Given the description of an element on the screen output the (x, y) to click on. 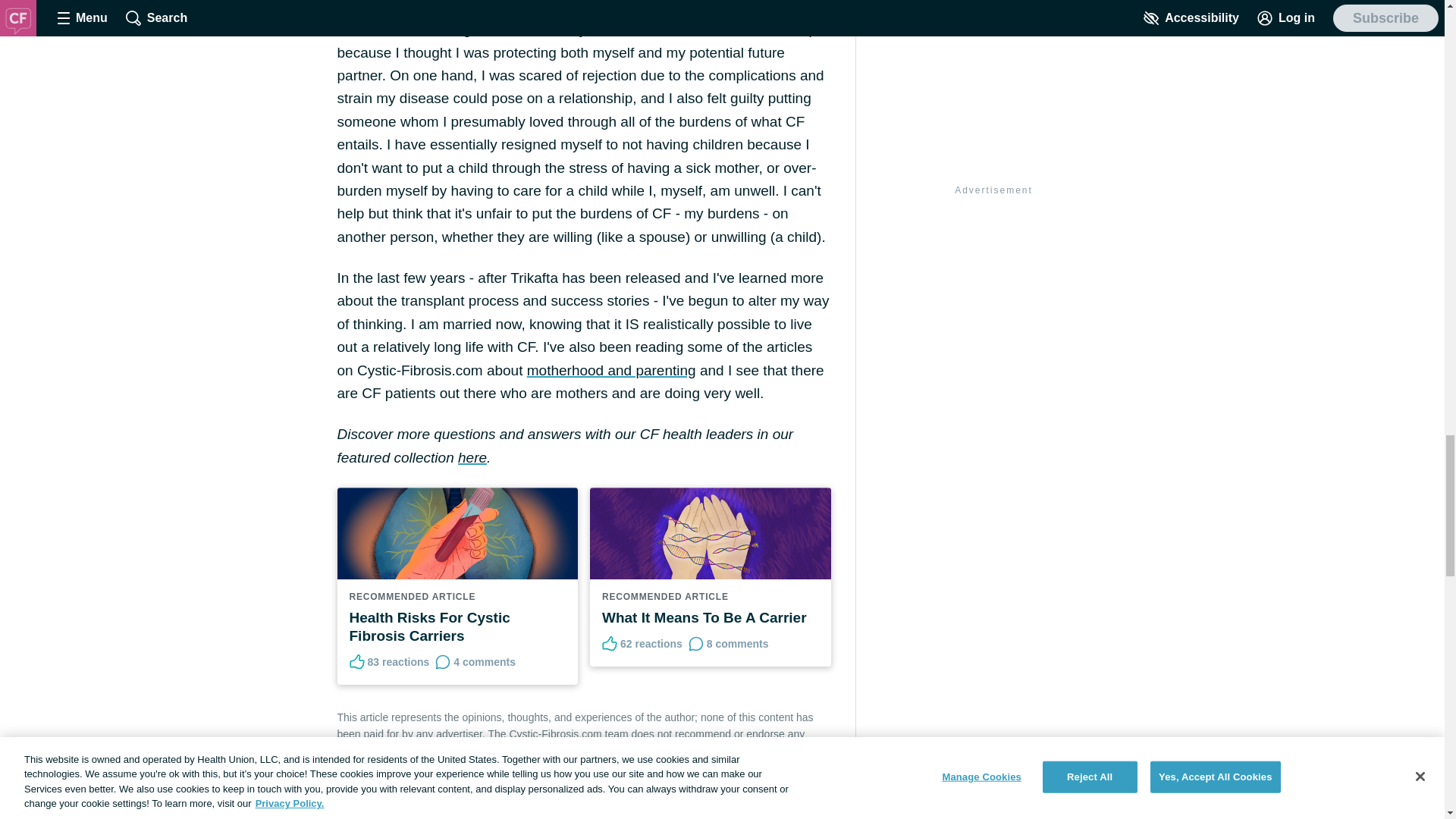
Reactions (609, 643)
3rd party ad content (992, 294)
Reactions (356, 661)
Comments (442, 661)
Comments (695, 643)
